Given the description of an element on the screen output the (x, y) to click on. 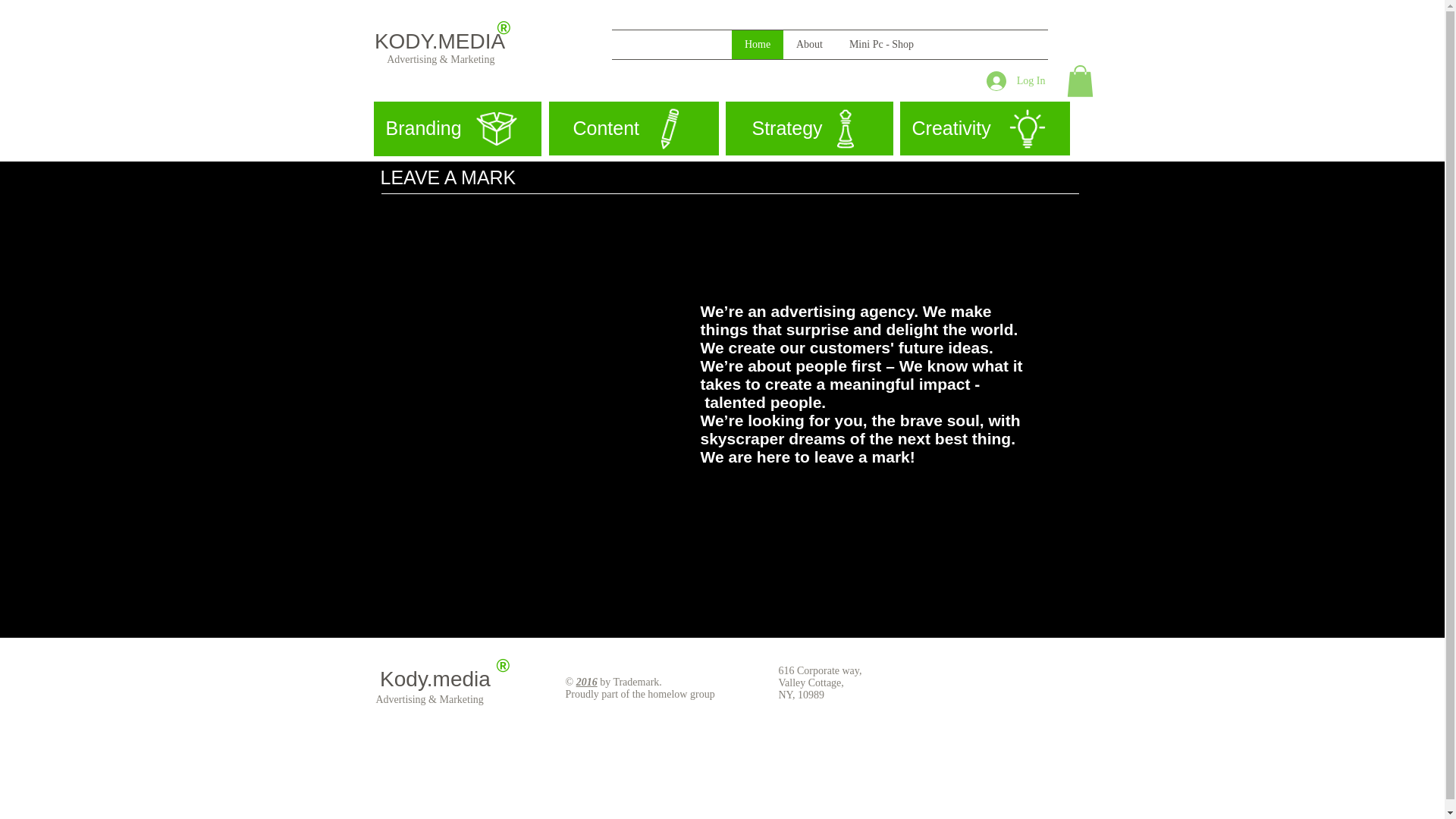
Branding (456, 128)
Home (757, 44)
About (809, 44)
Creativity (983, 128)
Log In (1016, 80)
Content (633, 128)
Strategy (808, 128)
Mini Pc - Shop (881, 44)
